Given the description of an element on the screen output the (x, y) to click on. 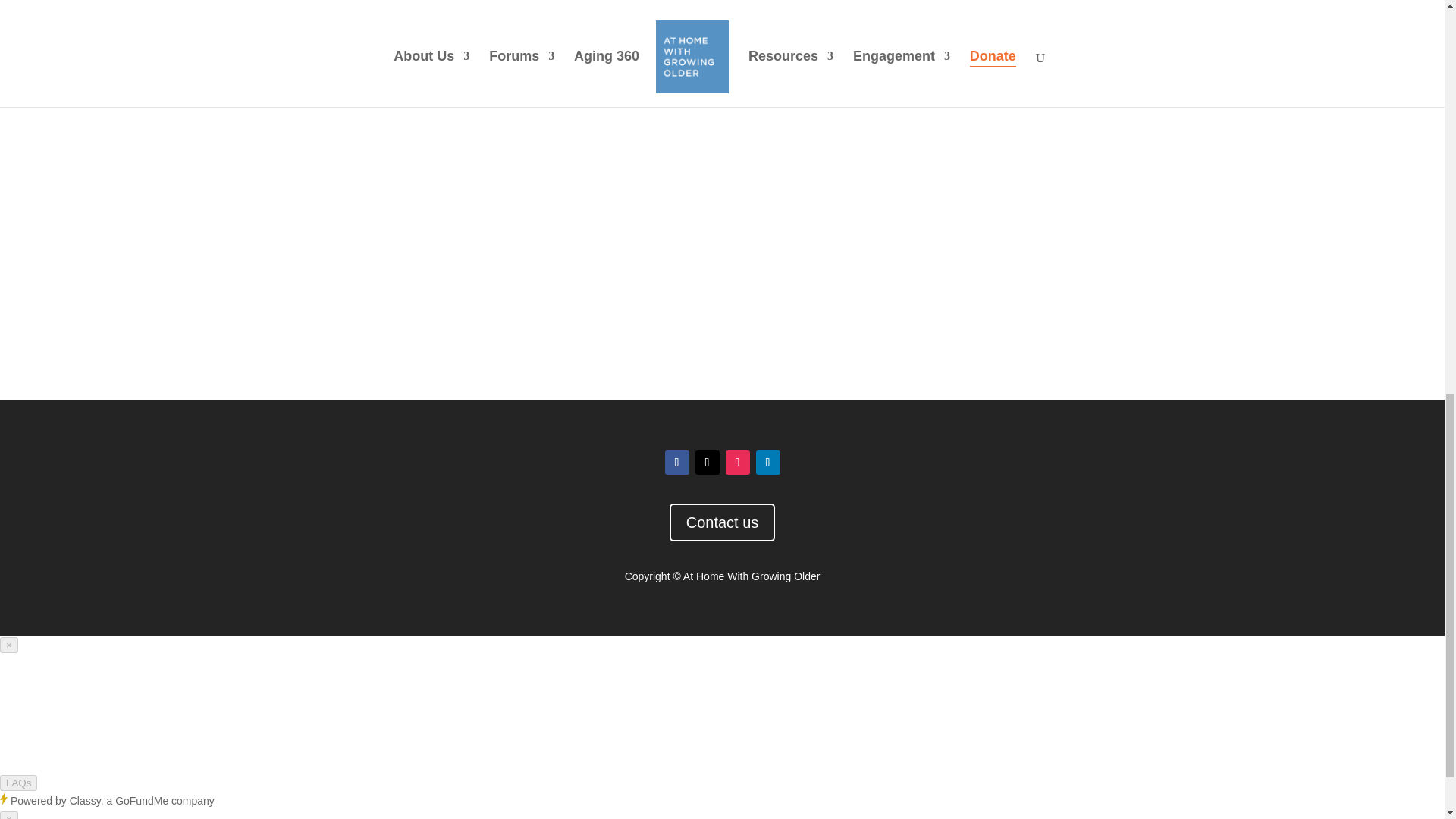
Follow on X (706, 462)
Follow on Instagram (737, 462)
Follow on Facebook (675, 462)
Follow on LinkedIn (766, 462)
